Given the description of an element on the screen output the (x, y) to click on. 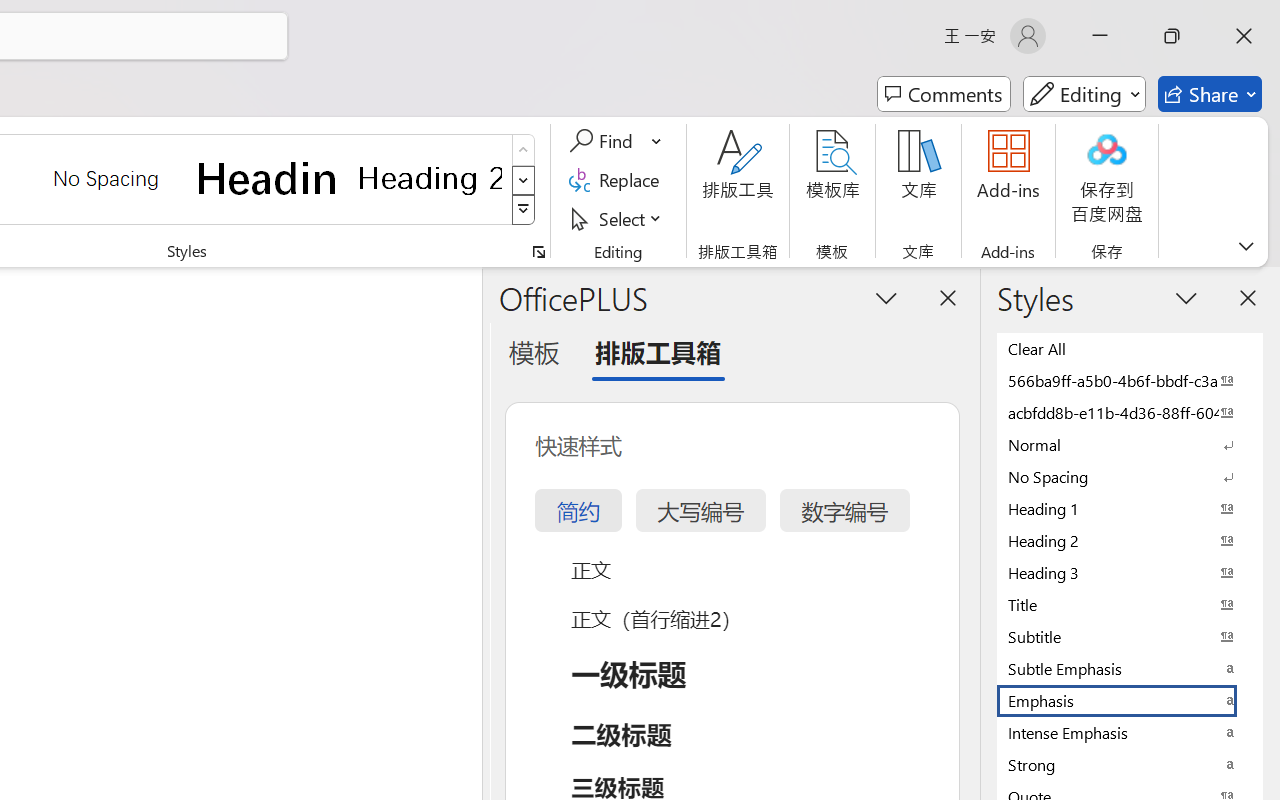
Select (618, 218)
Minimize (1099, 36)
566ba9ff-a5b0-4b6f-bbdf-c3ab41993fc2 (1130, 380)
Share (1210, 94)
Styles... (538, 252)
No Spacing (1130, 476)
Emphasis (1130, 700)
Normal (1130, 444)
